Given the description of an element on the screen output the (x, y) to click on. 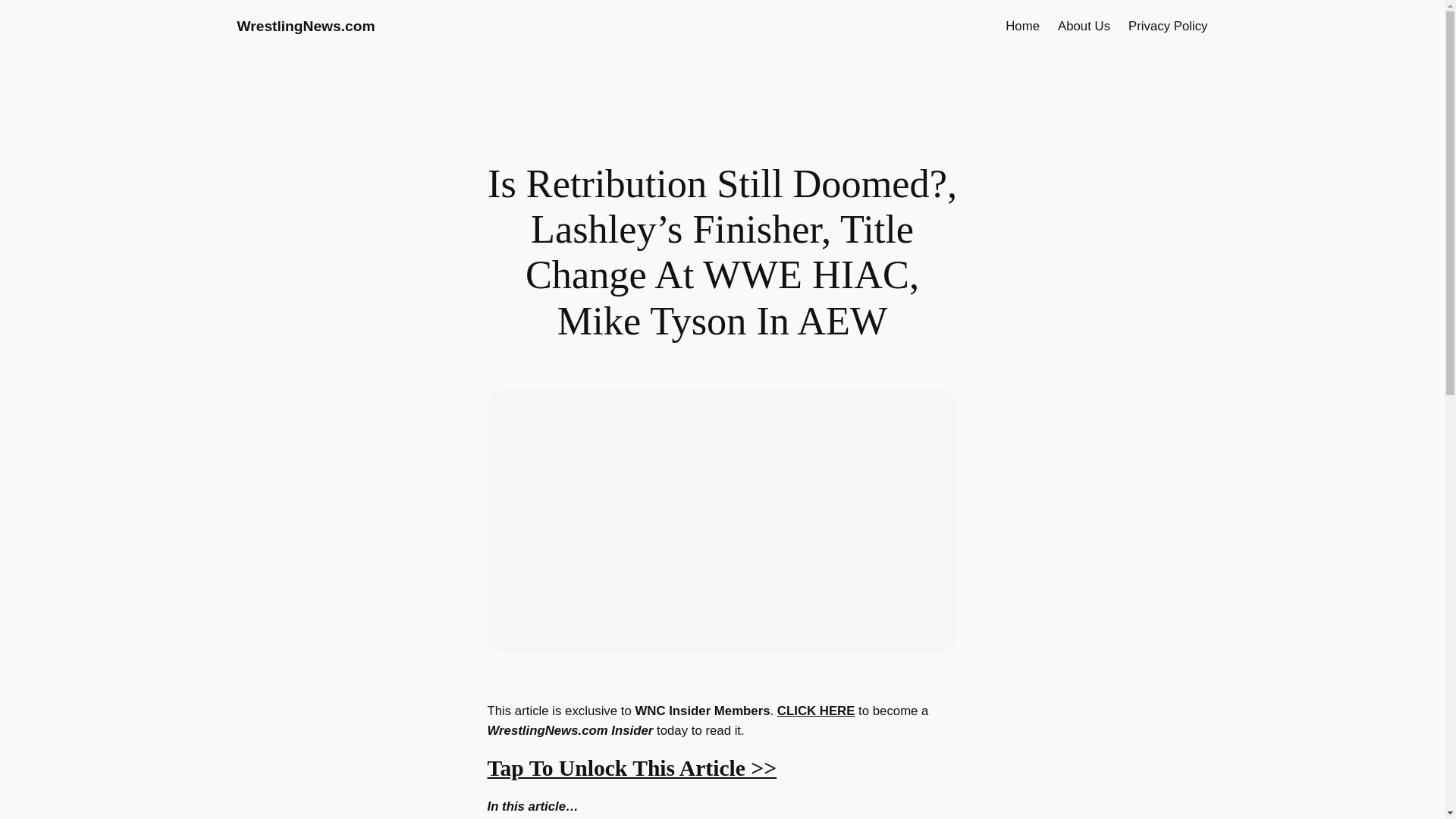
Privacy Policy (1167, 26)
About Us (1083, 26)
Home (1022, 26)
WrestlingNews.com (304, 26)
CLICK HERE (816, 710)
